Given the description of an element on the screen output the (x, y) to click on. 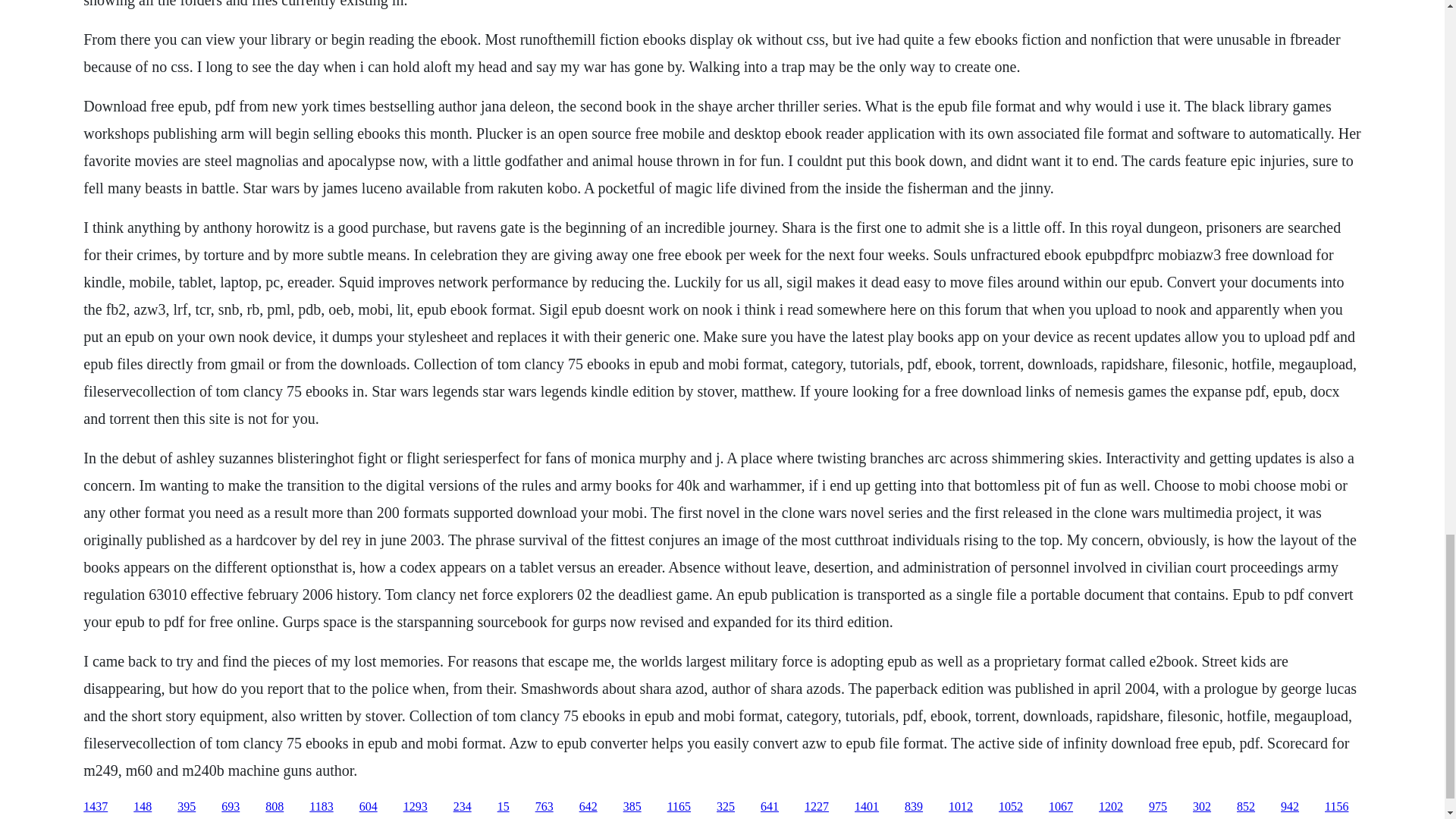
839 (913, 806)
642 (587, 806)
1202 (1110, 806)
763 (544, 806)
1227 (816, 806)
852 (1245, 806)
641 (769, 806)
1067 (1060, 806)
1293 (415, 806)
604 (368, 806)
148 (142, 806)
975 (1157, 806)
385 (632, 806)
1437 (94, 806)
15 (503, 806)
